Given the description of an element on the screen output the (x, y) to click on. 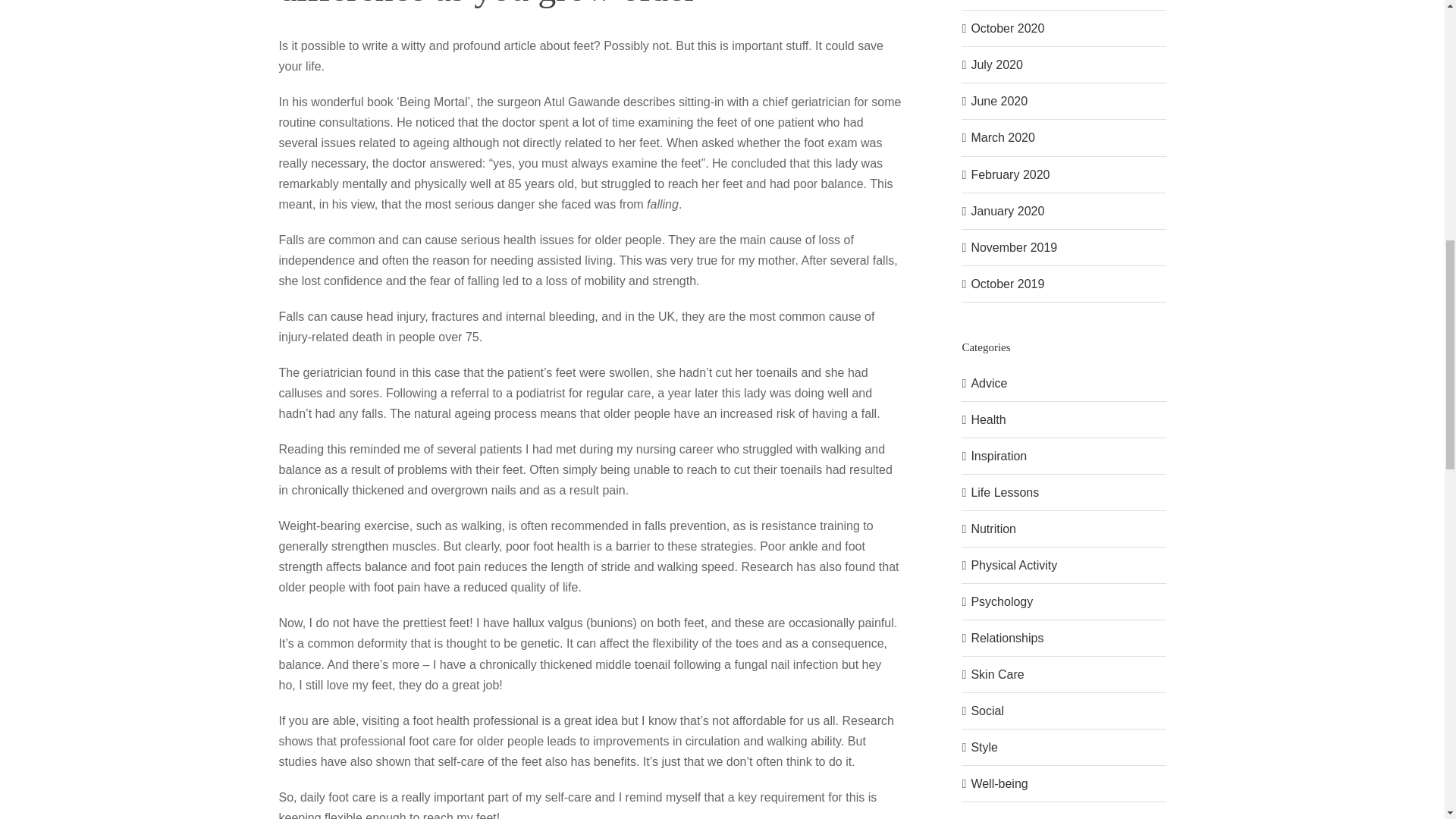
October 2020 (1007, 28)
